Given the description of an element on the screen output the (x, y) to click on. 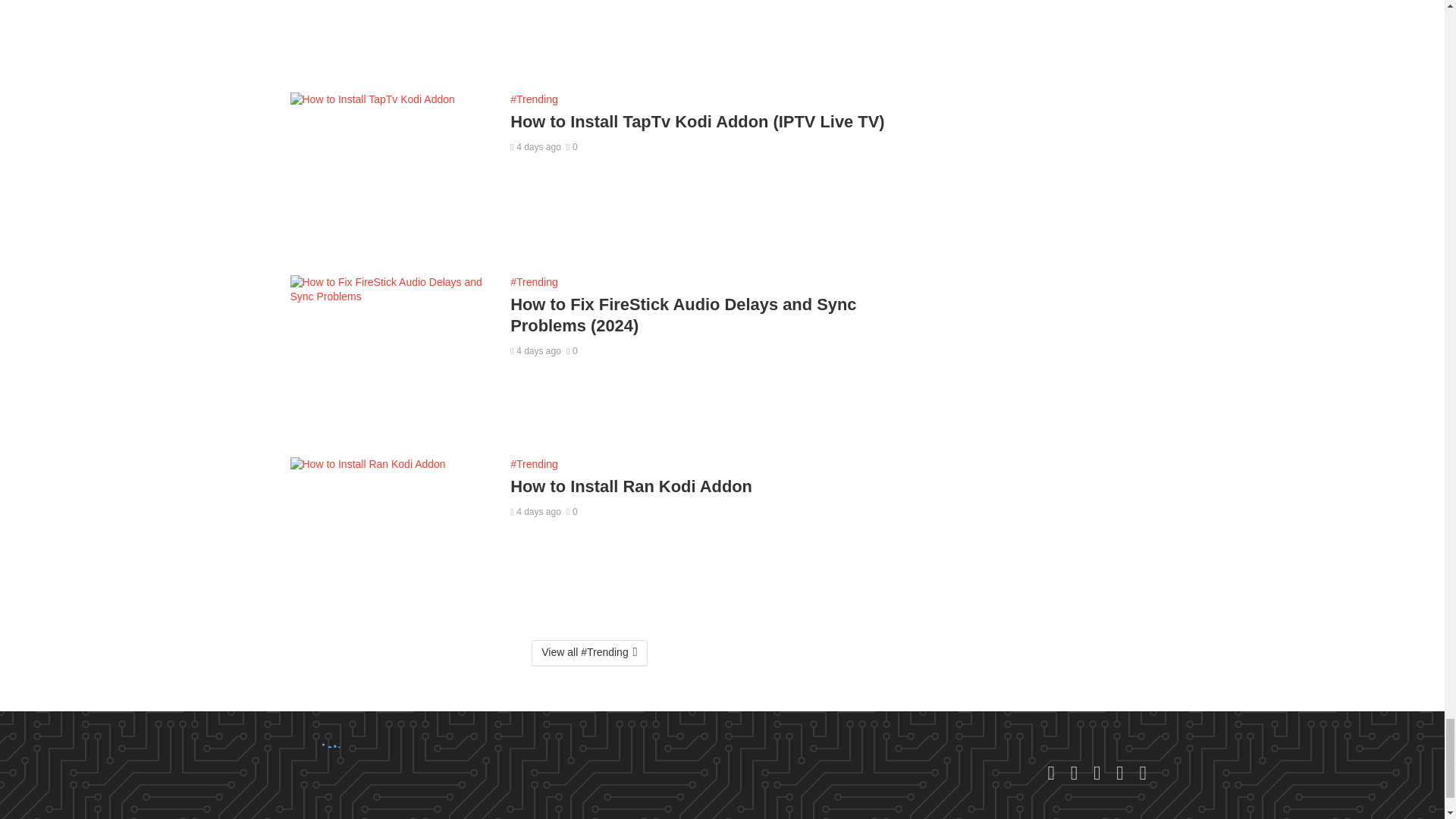
July 18, 2024 at 1:43 pm (535, 146)
0 Comments (572, 146)
